Given the description of an element on the screen output the (x, y) to click on. 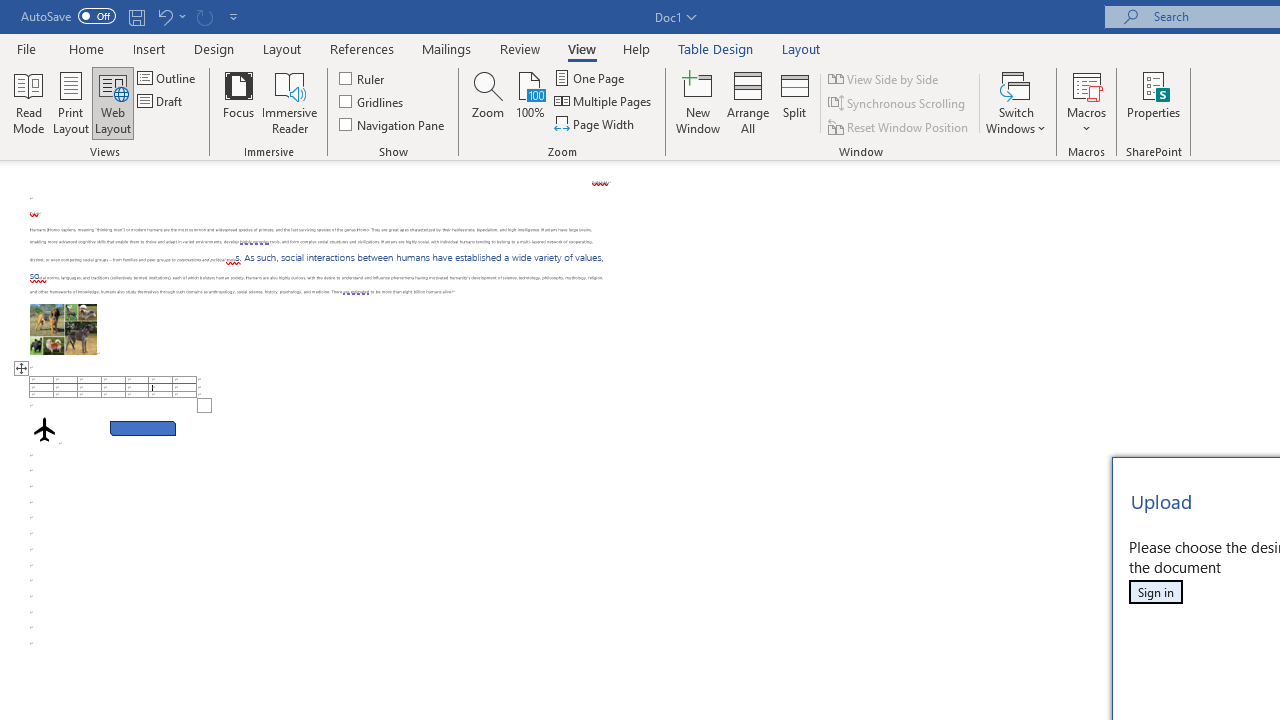
Synchronous Scrolling (898, 103)
Page Width (595, 124)
Review (520, 48)
Can't Repeat (204, 15)
Switch Windows (1016, 102)
Undo Row Height Spinner (164, 15)
Insert (149, 48)
Focus (238, 102)
Help (637, 48)
System (10, 11)
Draft (161, 101)
References (362, 48)
View Macros (1086, 84)
Design (214, 48)
